Given the description of an element on the screen output the (x, y) to click on. 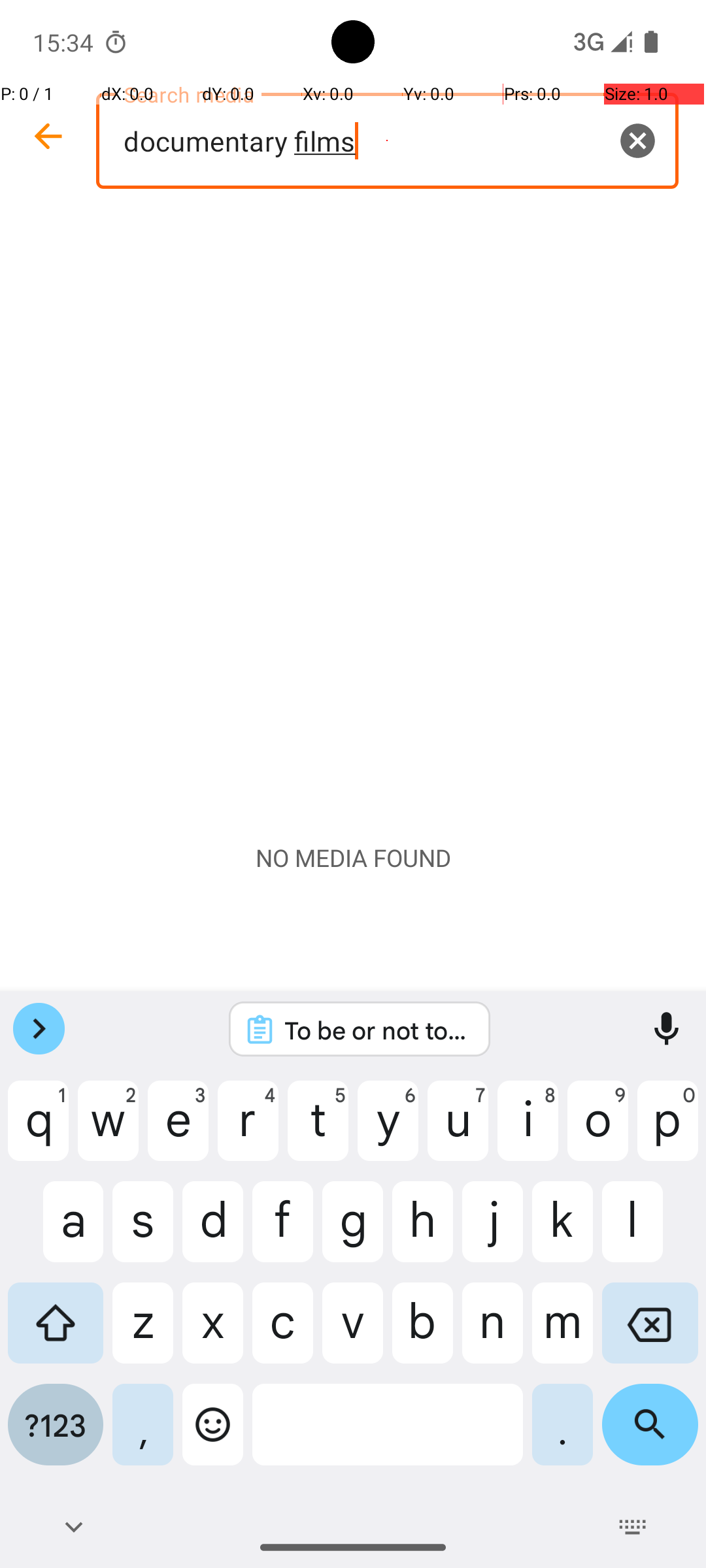
documentary films Element type: android.widget.EditText (387, 140)
NO MEDIA FOUND Element type: android.widget.TextView (353, 857)
